Given the description of an element on the screen output the (x, y) to click on. 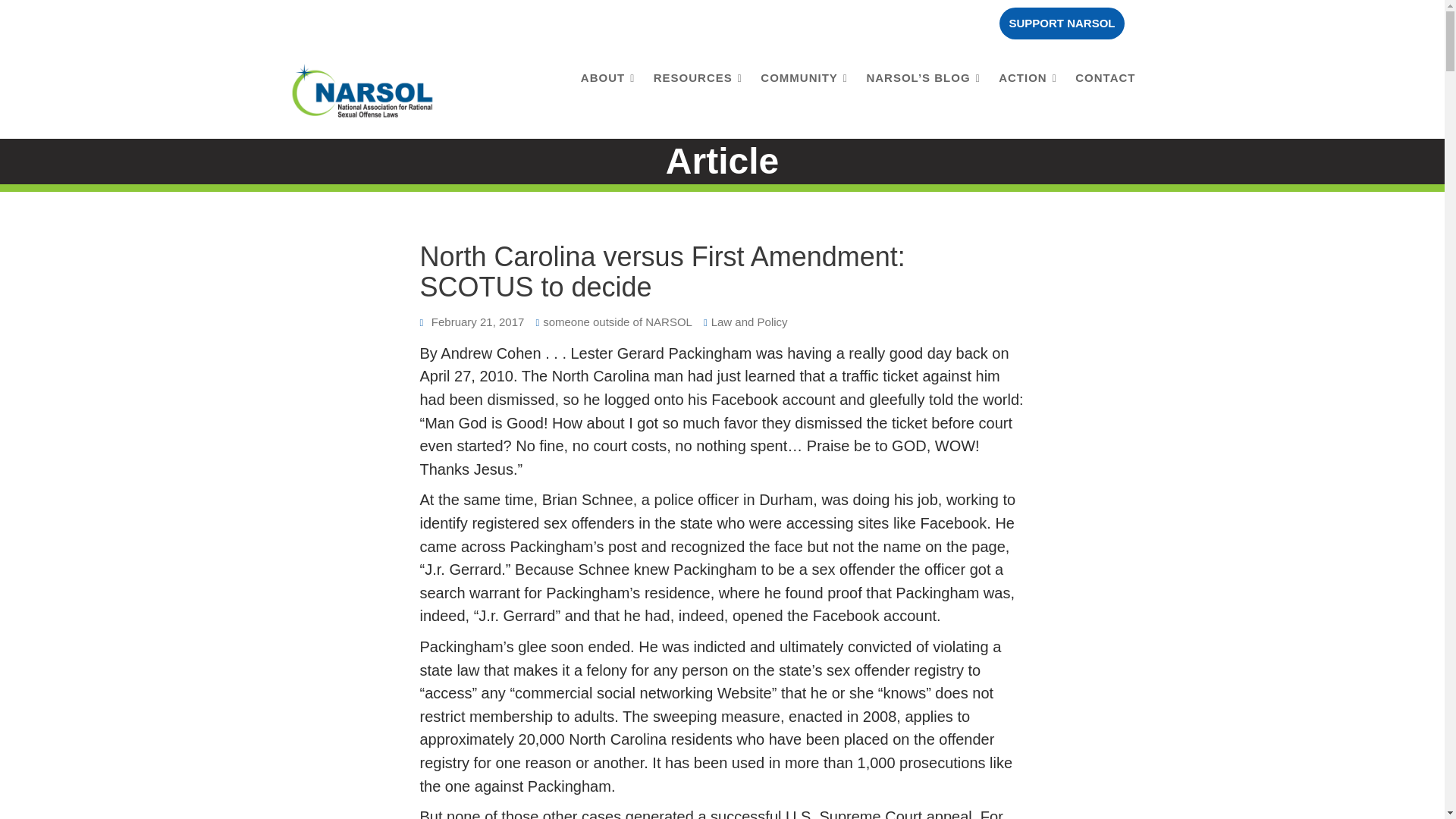
ABOUT (607, 77)
RESOURCES (697, 77)
SUPPORT NARSOL (1061, 23)
COMMUNITY (804, 77)
